Given the description of an element on the screen output the (x, y) to click on. 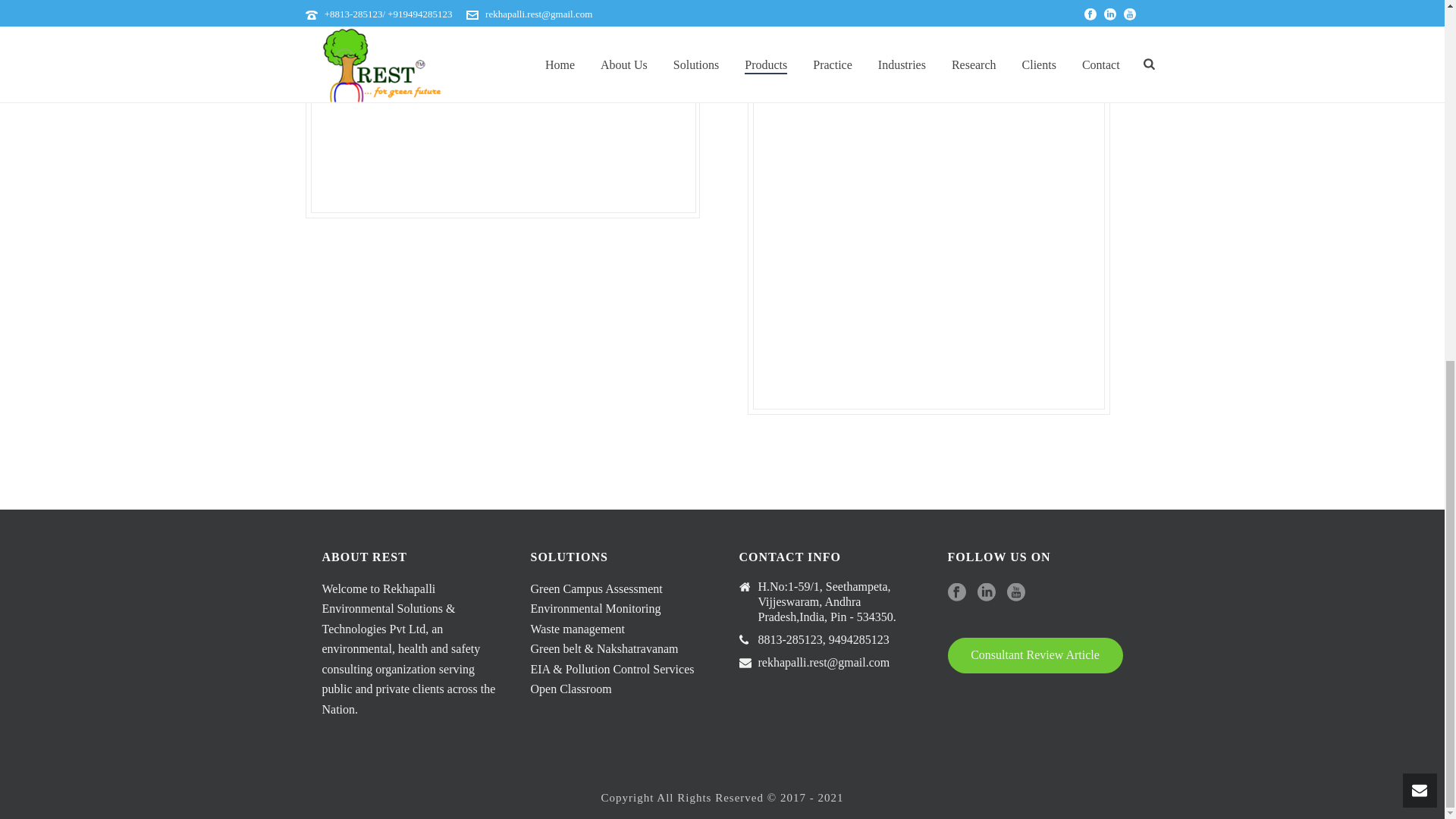
Follow Us on facebook (956, 593)
